Given the description of an element on the screen output the (x, y) to click on. 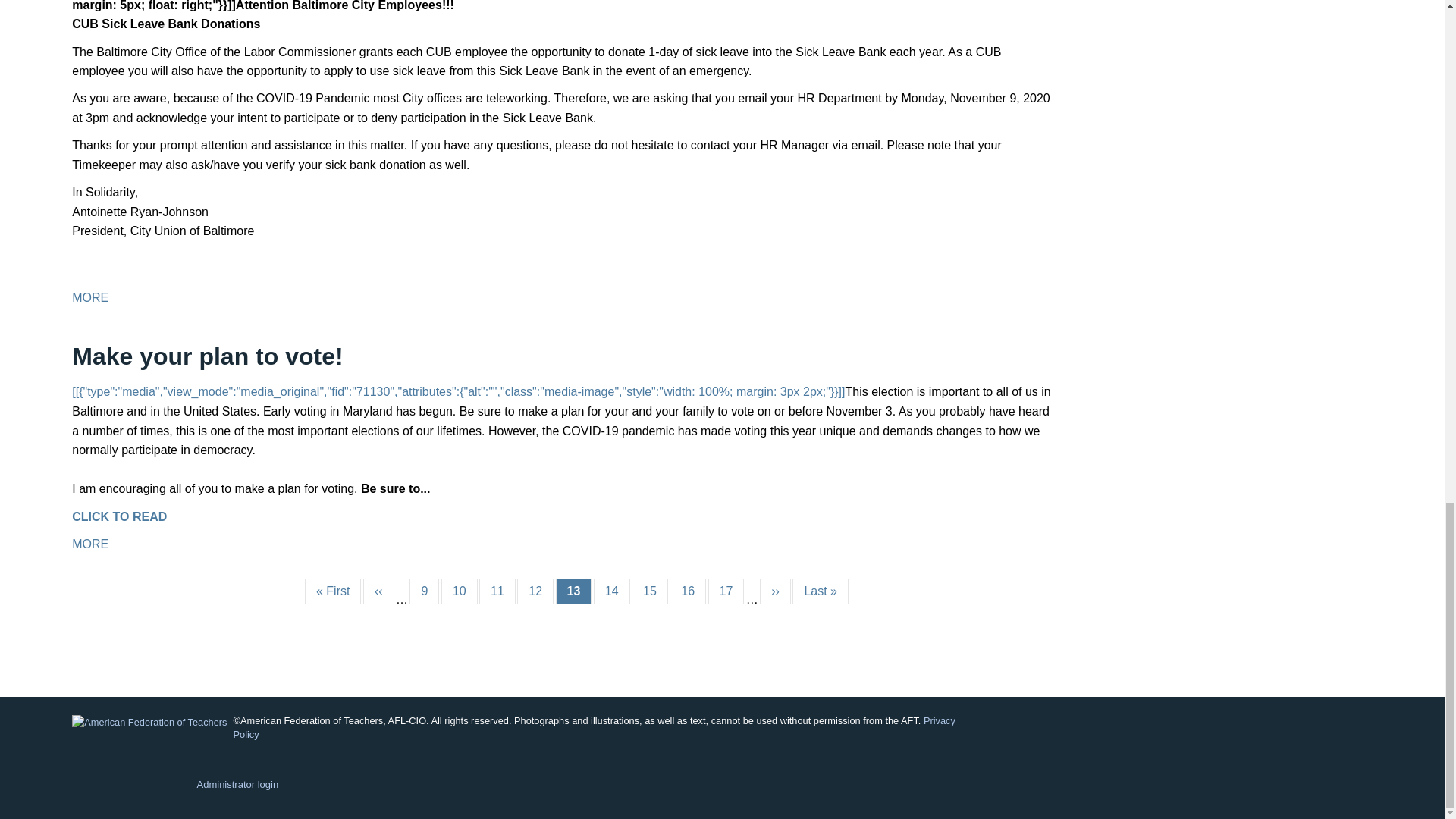
Make your plan to vote! (206, 356)
Go to page 15 (649, 591)
Go to page 14 (612, 591)
Go to last page (820, 591)
Go to first page (332, 591)
Current page (574, 591)
Go to previous page (378, 591)
Go to page 11 (497, 591)
MORE (89, 297)
Go to next page (775, 591)
